Given the description of an element on the screen output the (x, y) to click on. 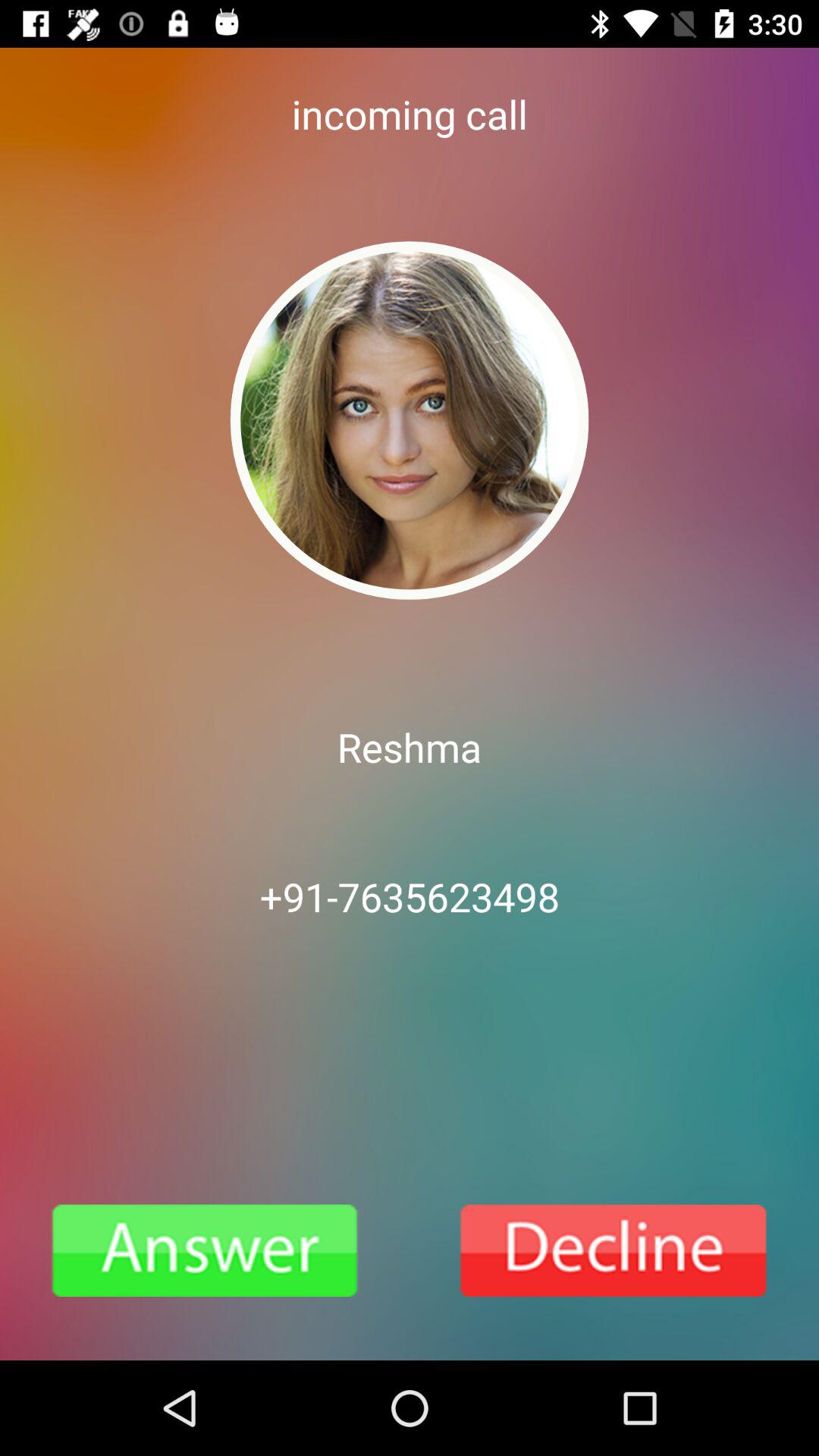
pickup a call (204, 1250)
